Given the description of an element on the screen output the (x, y) to click on. 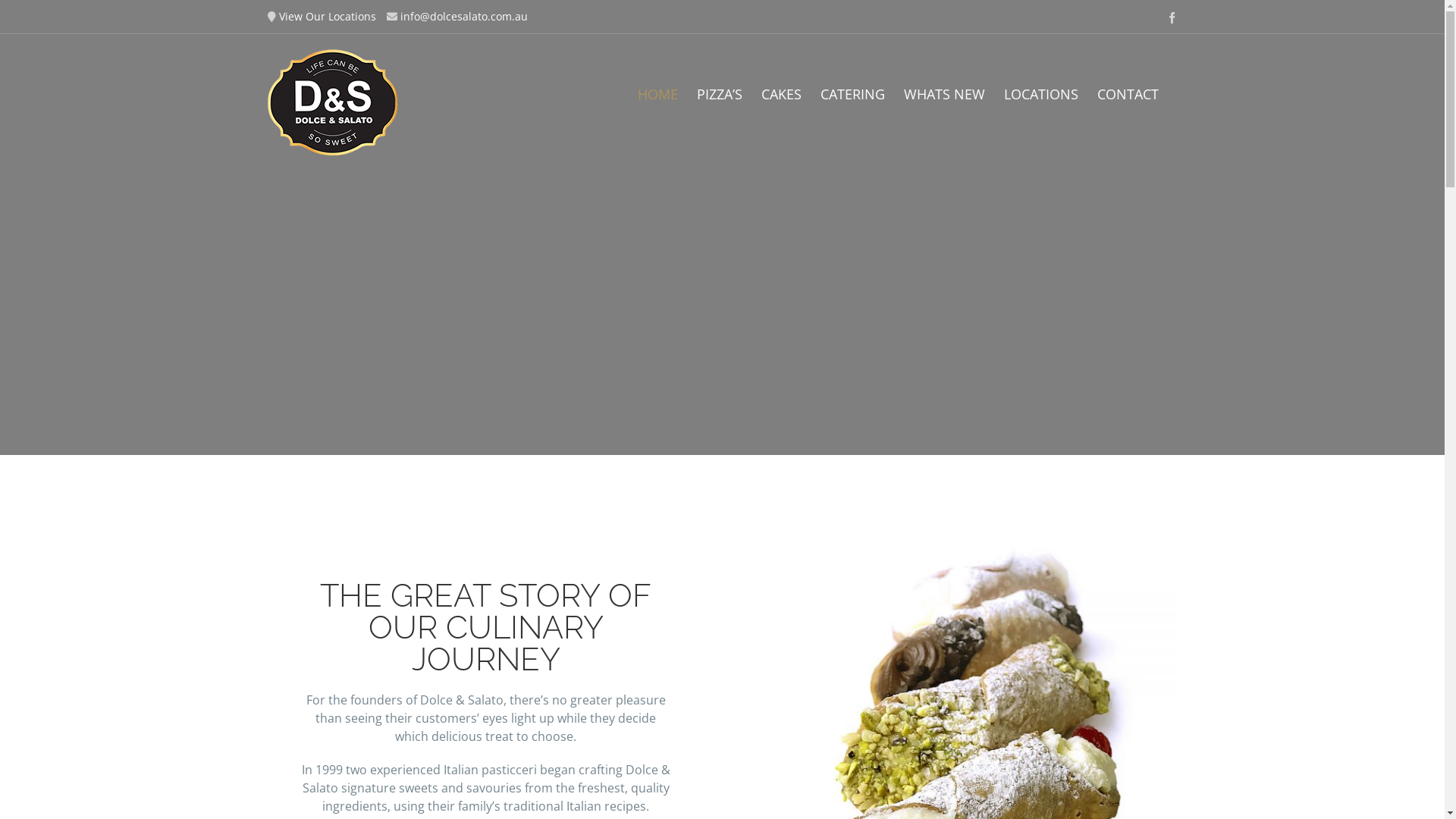
HOME Element type: text (657, 93)
info@dolcesalato.com.au Element type: text (463, 16)
CONTACT Element type: text (1126, 93)
CAKES Element type: text (781, 93)
Facebook Element type: text (1171, 17)
WHATS NEW Element type: text (944, 93)
CATERING Element type: text (852, 93)
LOCATIONS Element type: text (1041, 93)
View Our Locations Element type: text (327, 16)
